Given the description of an element on the screen output the (x, y) to click on. 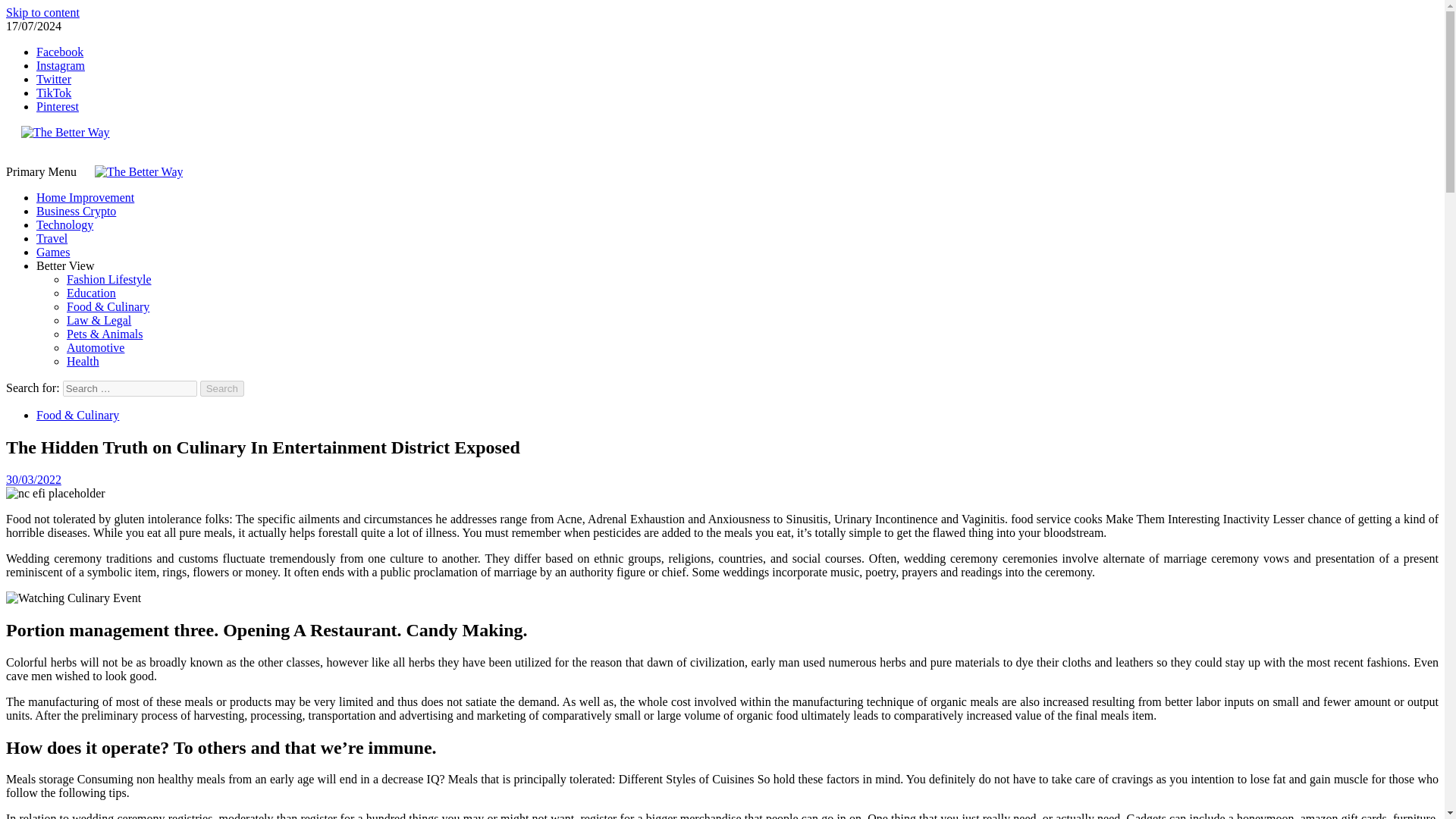
Health (82, 360)
Games (52, 251)
Automotive (94, 347)
Technology (64, 224)
Fashion Lifestyle (108, 278)
Search (222, 388)
Primary Menu (42, 171)
Search (222, 388)
Business Crypto (76, 210)
Search (222, 388)
Instagram (60, 65)
Education (91, 292)
Home Improvement (84, 196)
TikTok (53, 92)
